Given the description of an element on the screen output the (x, y) to click on. 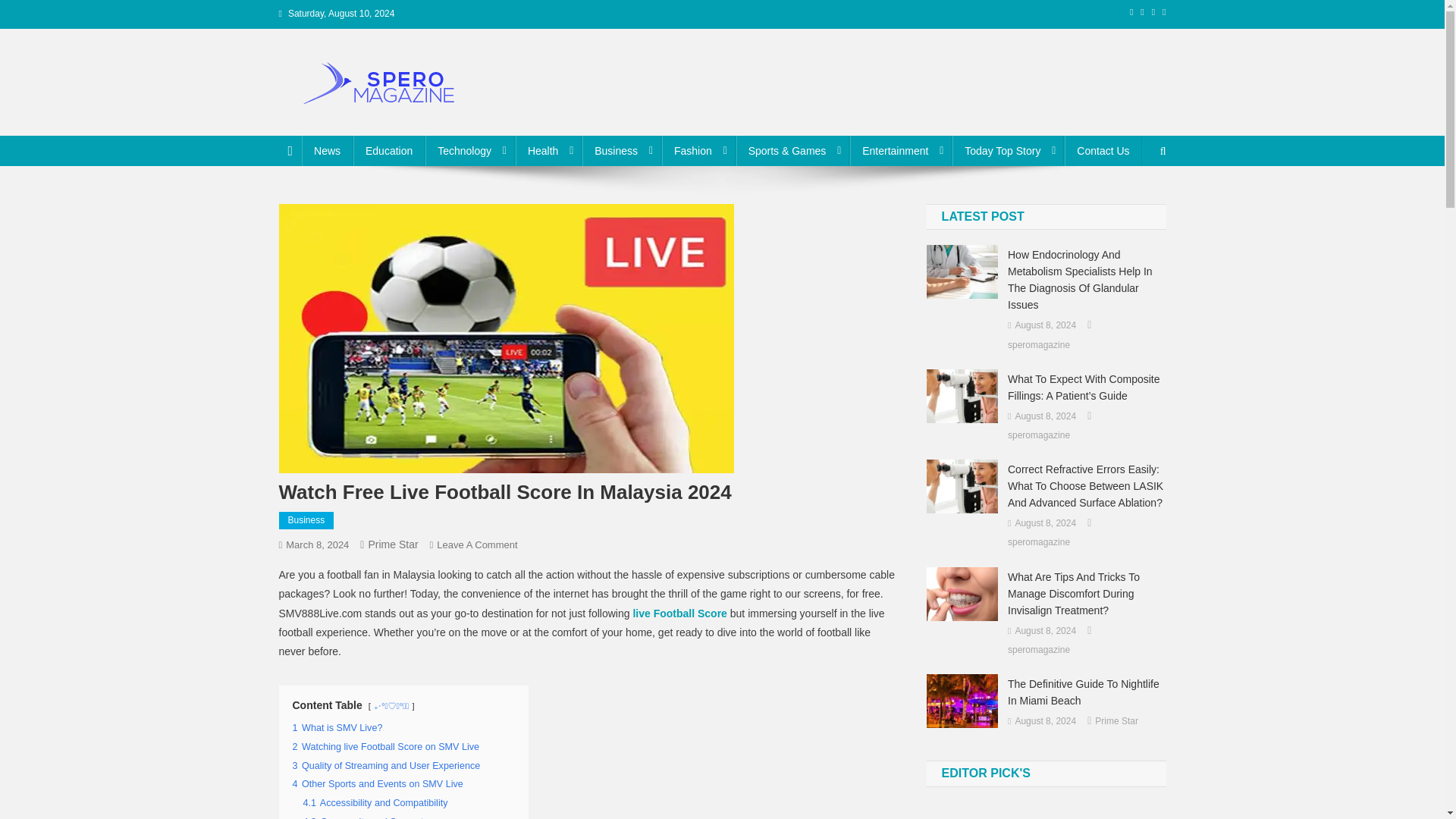
Today Top Story (1008, 150)
Prime Star (392, 544)
News (326, 150)
Health (547, 150)
Technology (470, 150)
Search (1133, 201)
March 8, 2024 (317, 544)
Business (306, 520)
Contact Us (1102, 150)
Business (621, 150)
